Given the description of an element on the screen output the (x, y) to click on. 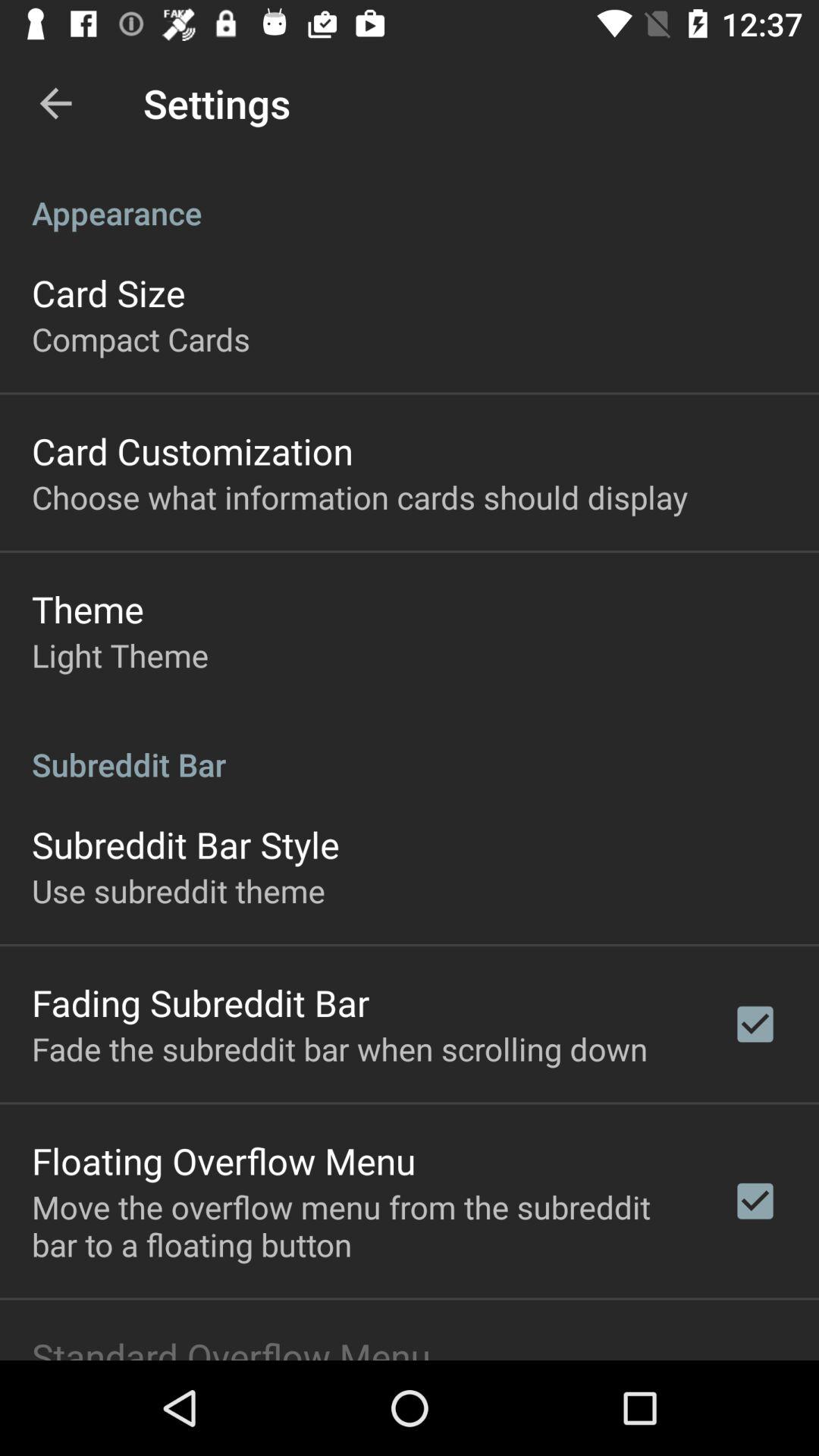
scroll to the move the overflow icon (361, 1225)
